Given the description of an element on the screen output the (x, y) to click on. 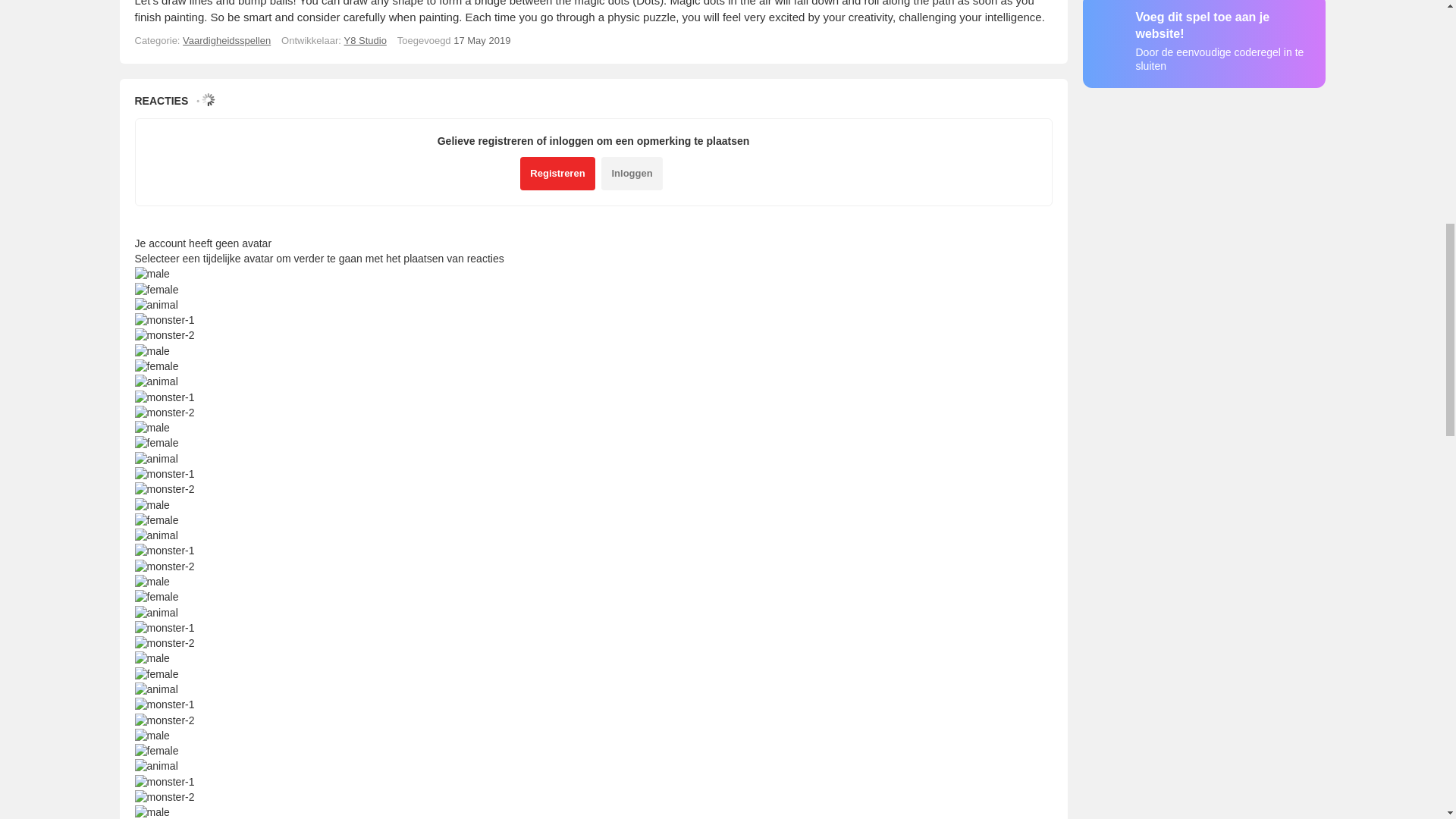
Skill (226, 40)
